Given the description of an element on the screen output the (x, y) to click on. 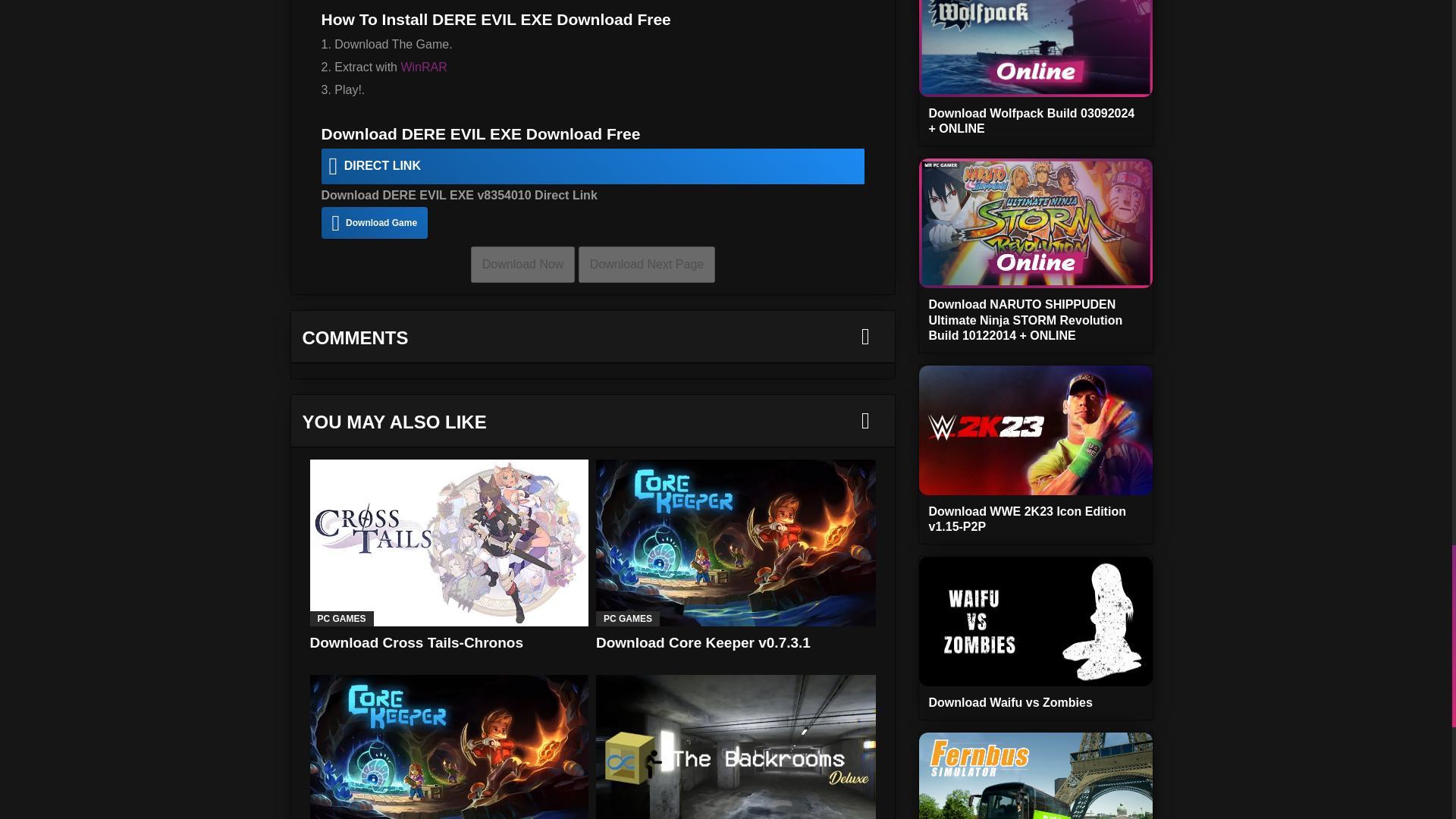
WinRAR (423, 66)
Download Cross Tails-Chronos (448, 542)
Download Game (374, 223)
Download Now Download Next Page (592, 264)
Download Now (522, 264)
Download Next Page (646, 264)
